Given the description of an element on the screen output the (x, y) to click on. 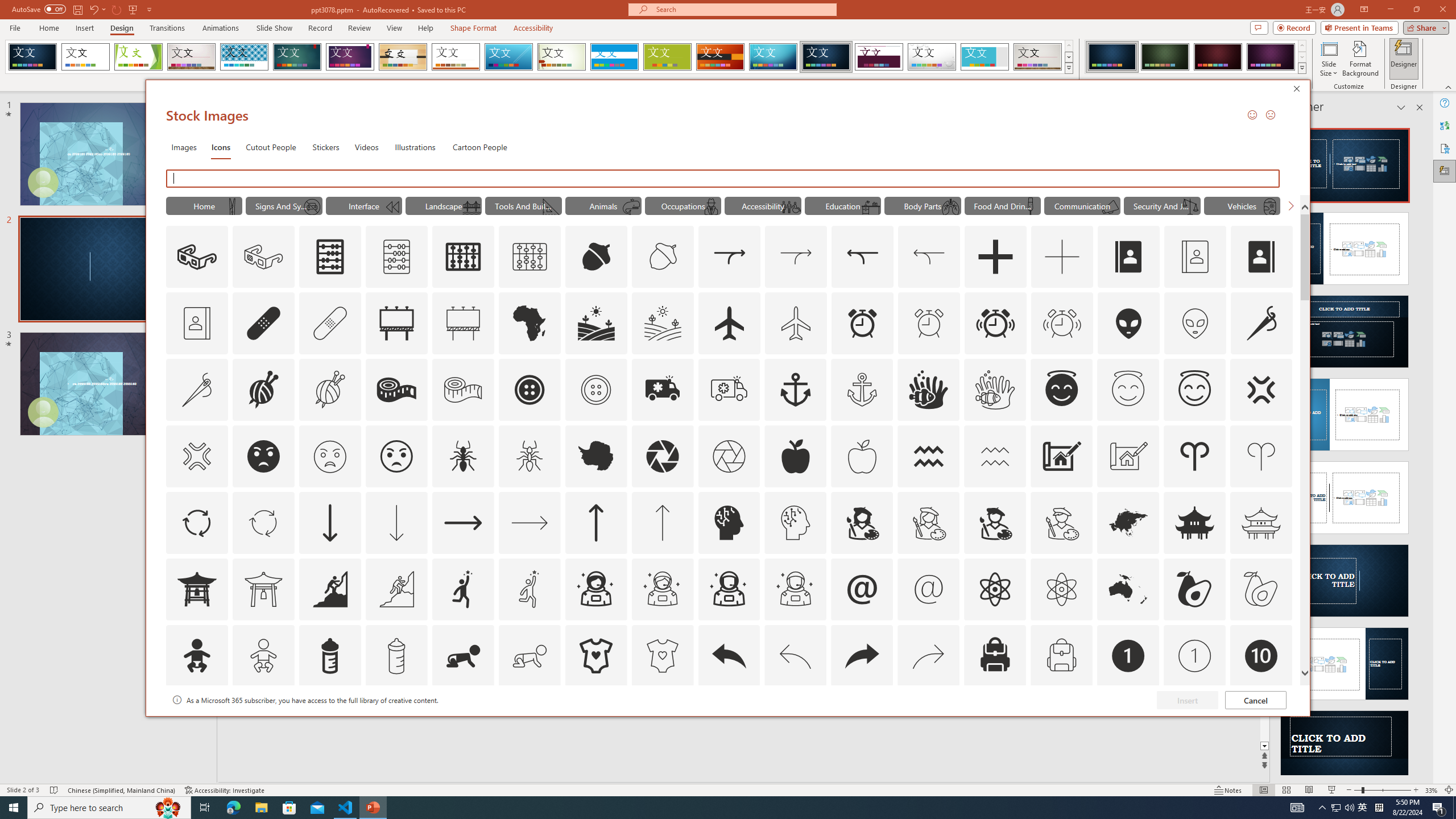
AutomationID: Icons_Acquisition_RTL_M (928, 256)
AutomationID: Icons_Antarctica (595, 455)
AutomationID: Icons_Airplane_M (796, 323)
AutomationID: Icons_AngryFace (263, 455)
AutomationID: Icons_Apple (795, 455)
AutomationID: Icons_Megaphone_M (1110, 206)
AutomationID: Icons_WeightsUneven1_M (1190, 206)
